Given the description of an element on the screen output the (x, y) to click on. 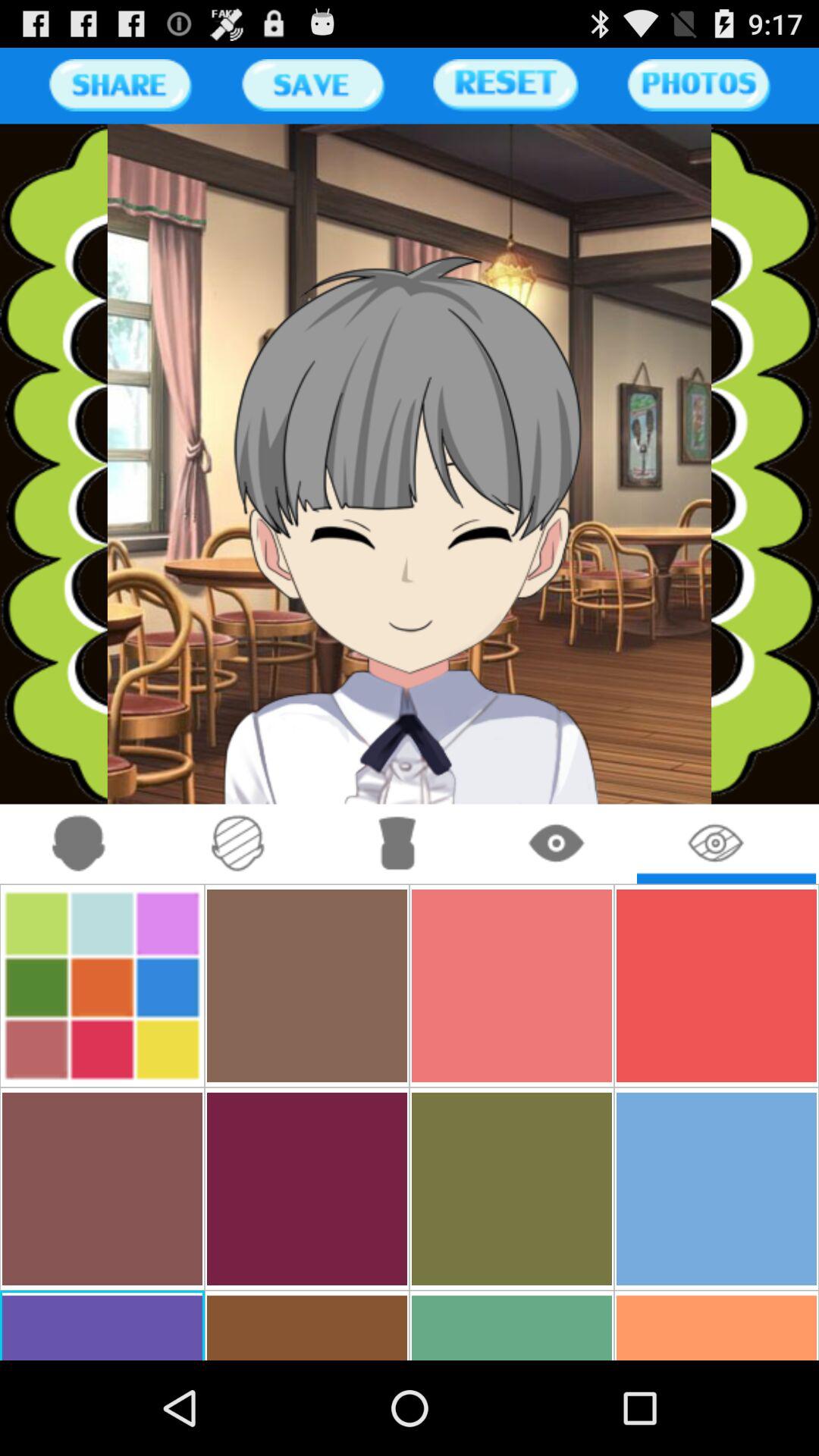
select head type (238, 843)
